Given the description of an element on the screen output the (x, y) to click on. 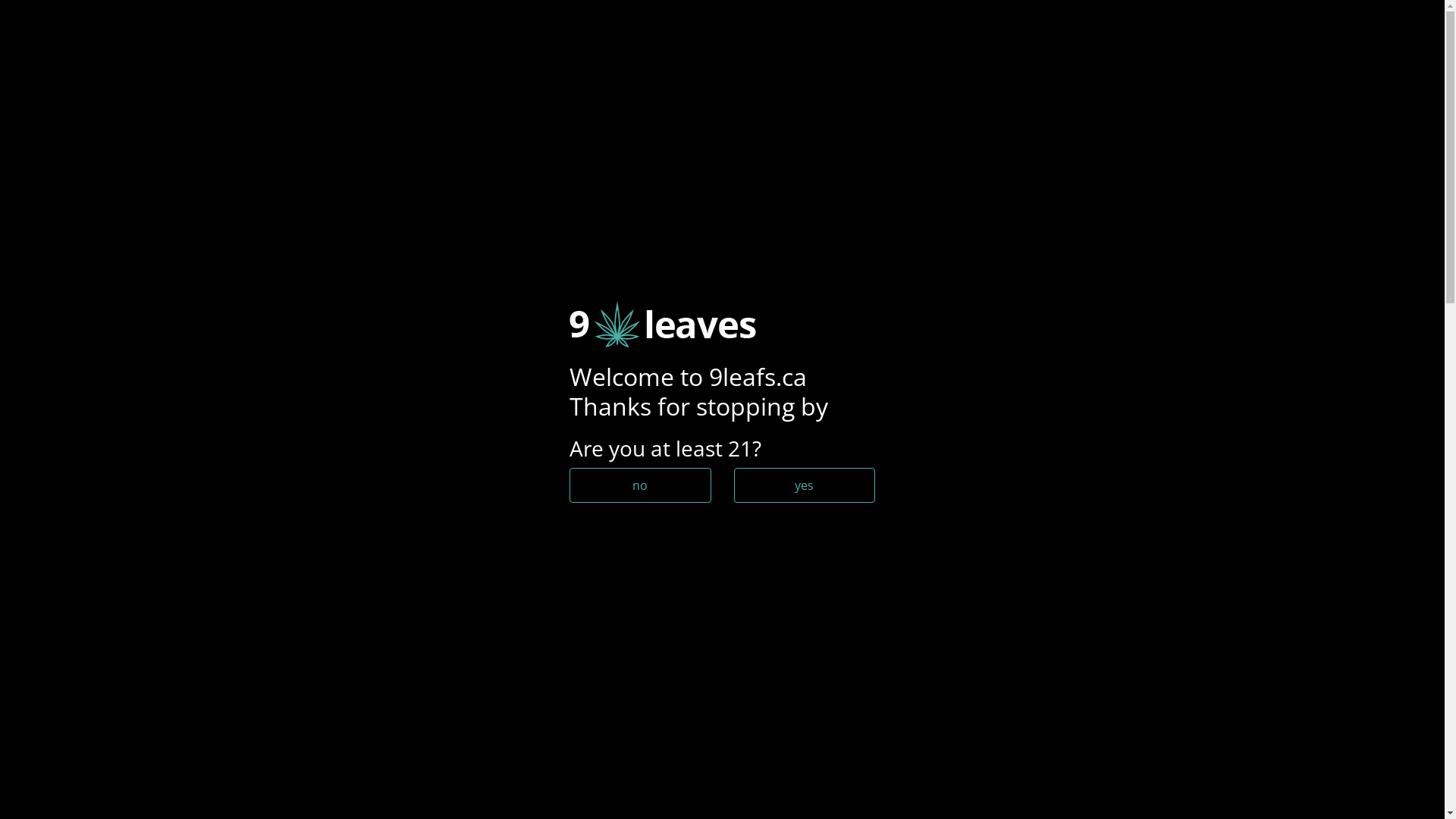
ABOUT THC Element type: text (493, 374)
CONTACT US Element type: text (211, 36)
yes Element type: text (804, 484)
CANNABIS BLOG Element type: text (381, 374)
HOME Element type: text (287, 374)
ABOUT US Element type: text (1372, 36)
HOME Element type: text (119, 36)
CANNABIS BLOG Element type: text (1258, 36)
no Element type: text (640, 484)
